Given the description of an element on the screen output the (x, y) to click on. 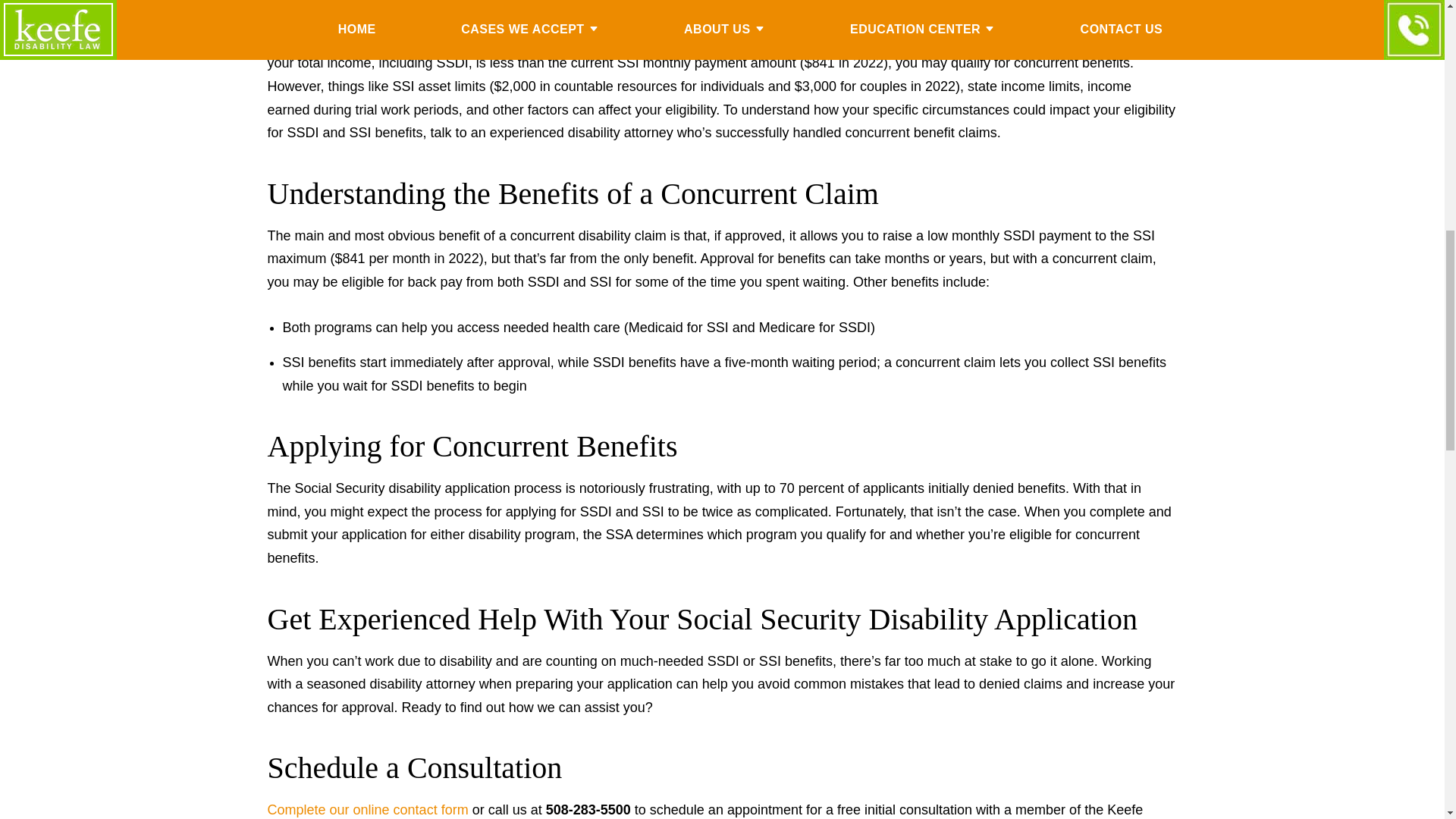
Complete our online contact form (366, 809)
